Given the description of an element on the screen output the (x, y) to click on. 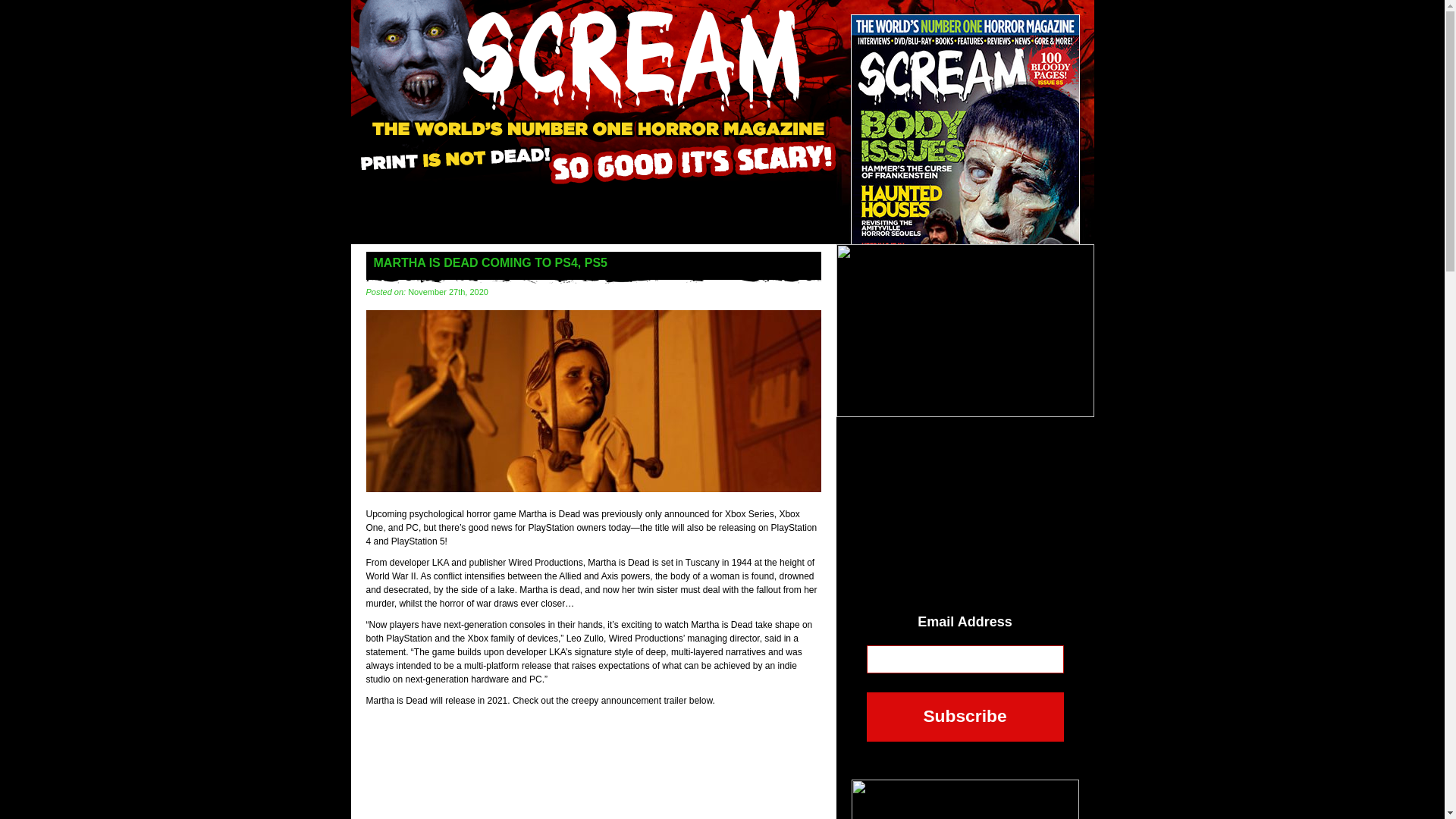
MARTHA IS DEAD COMING TO PS4, PS5 (593, 489)
Subscribe (964, 717)
Subscribe (964, 717)
